Given the description of an element on the screen output the (x, y) to click on. 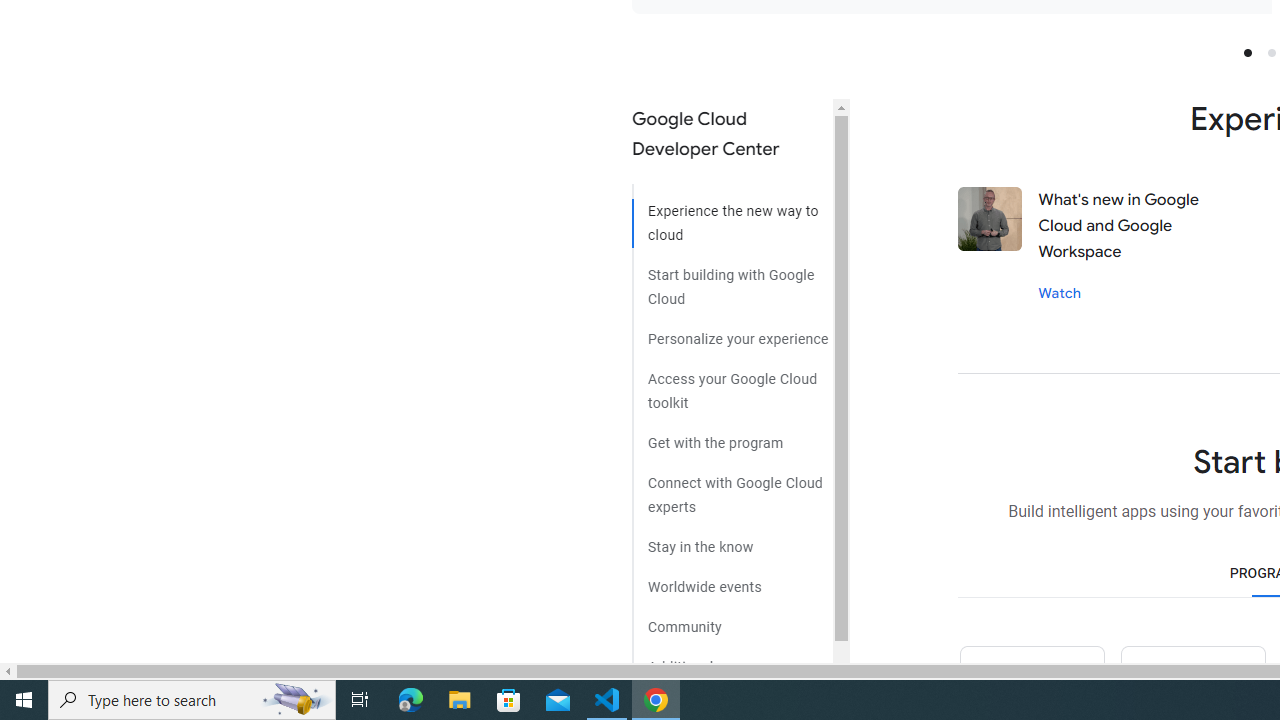
Connect with Google Cloud experts (732, 487)
Stay in the know (732, 539)
Slide 1 (1247, 52)
Watch (1059, 292)
Access your Google Cloud toolkit (732, 384)
Personalize your experience (732, 331)
Python icon (1031, 682)
Slide 2 (1271, 52)
Start building with Google Cloud (732, 279)
Java icon (1192, 682)
Community (732, 619)
Get with the program (732, 435)
Additional resources (732, 659)
Experience the new way to cloud (732, 215)
